Given the description of an element on the screen output the (x, y) to click on. 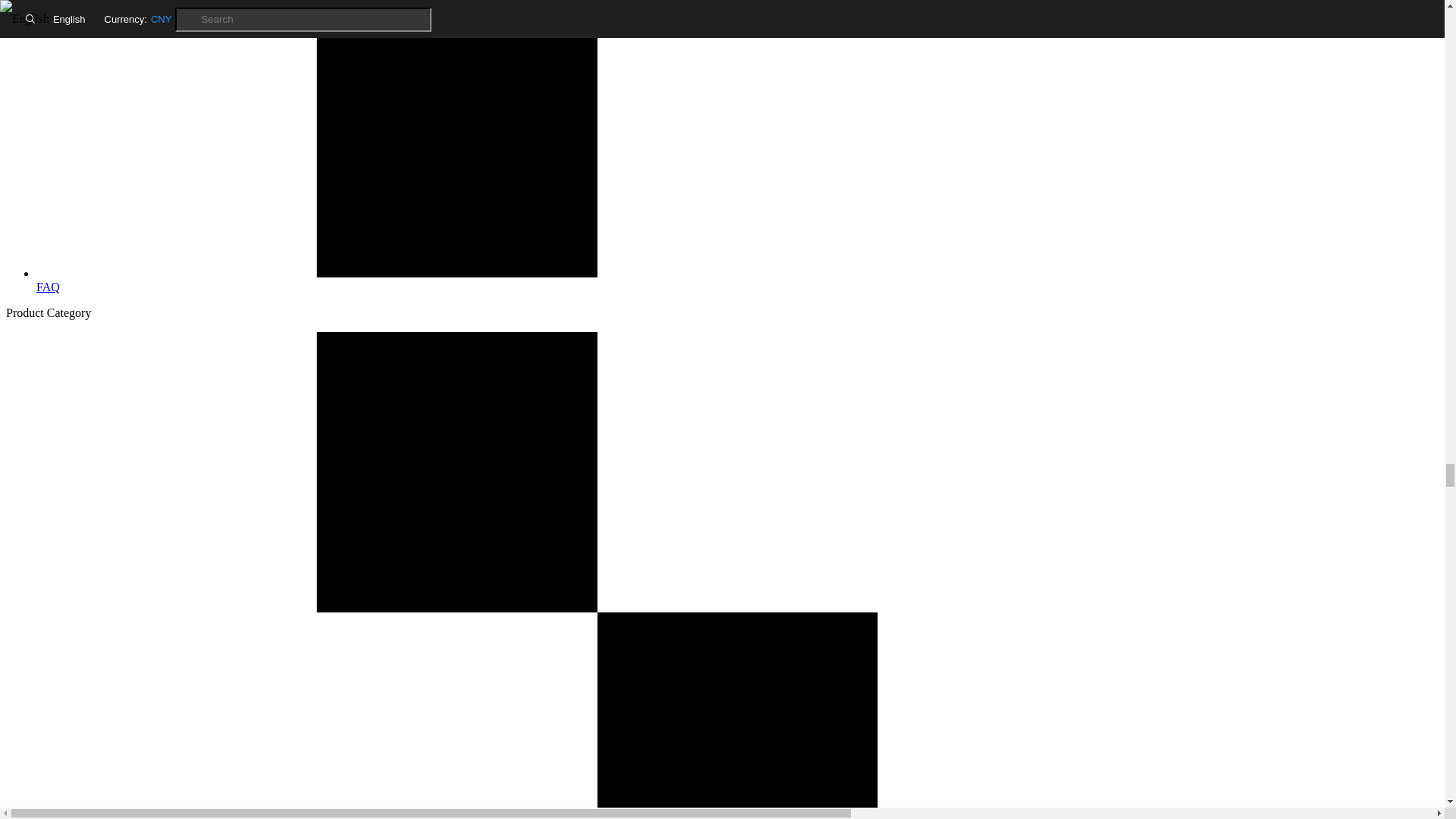
FAQ (737, 279)
